Given the description of an element on the screen output the (x, y) to click on. 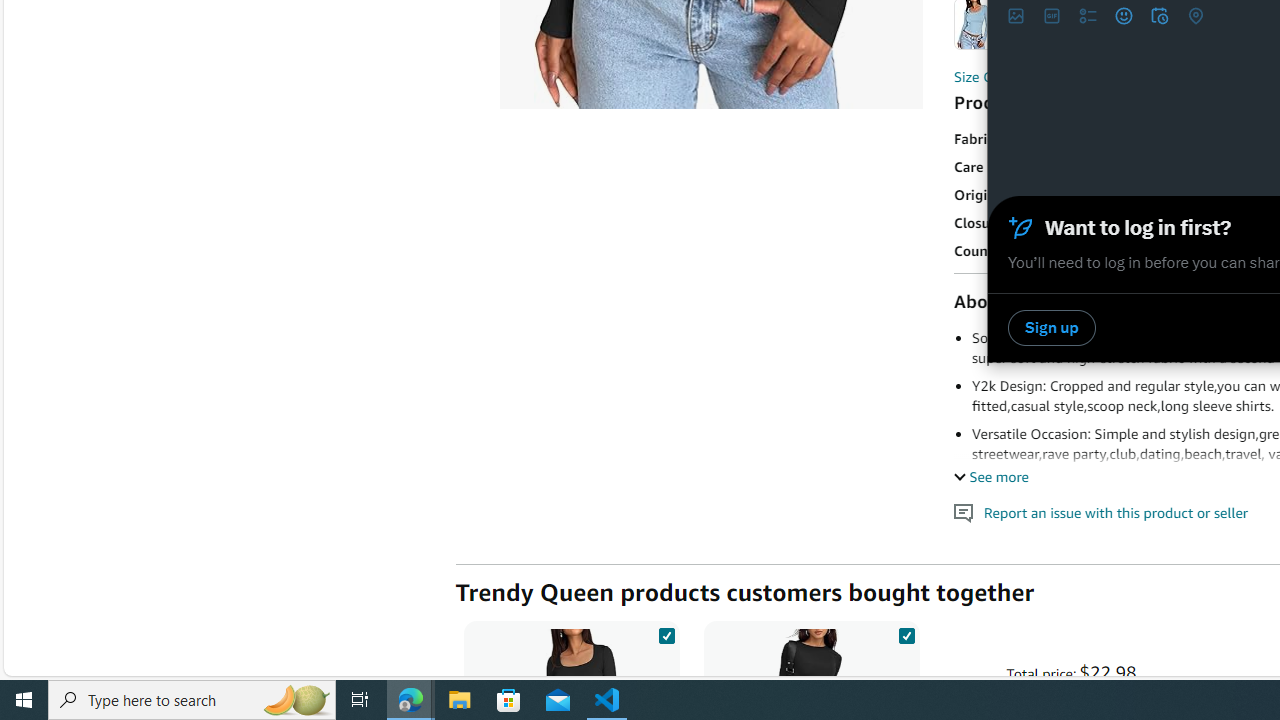
Microsoft Edge - 3 running windows (411, 699)
Type here to search (191, 699)
File Explorer (460, 699)
Microsoft Store (509, 699)
Report an issue with this product or seller (963, 512)
Task View (359, 699)
Search highlights icon opens search home window (295, 699)
Visual Studio Code - 1 running window (607, 699)
AutomationID: thematicBundleCheck-1 (665, 632)
AutomationID: thematicBundleCheck-2 (906, 632)
Start (24, 699)
